Given the description of an element on the screen output the (x, y) to click on. 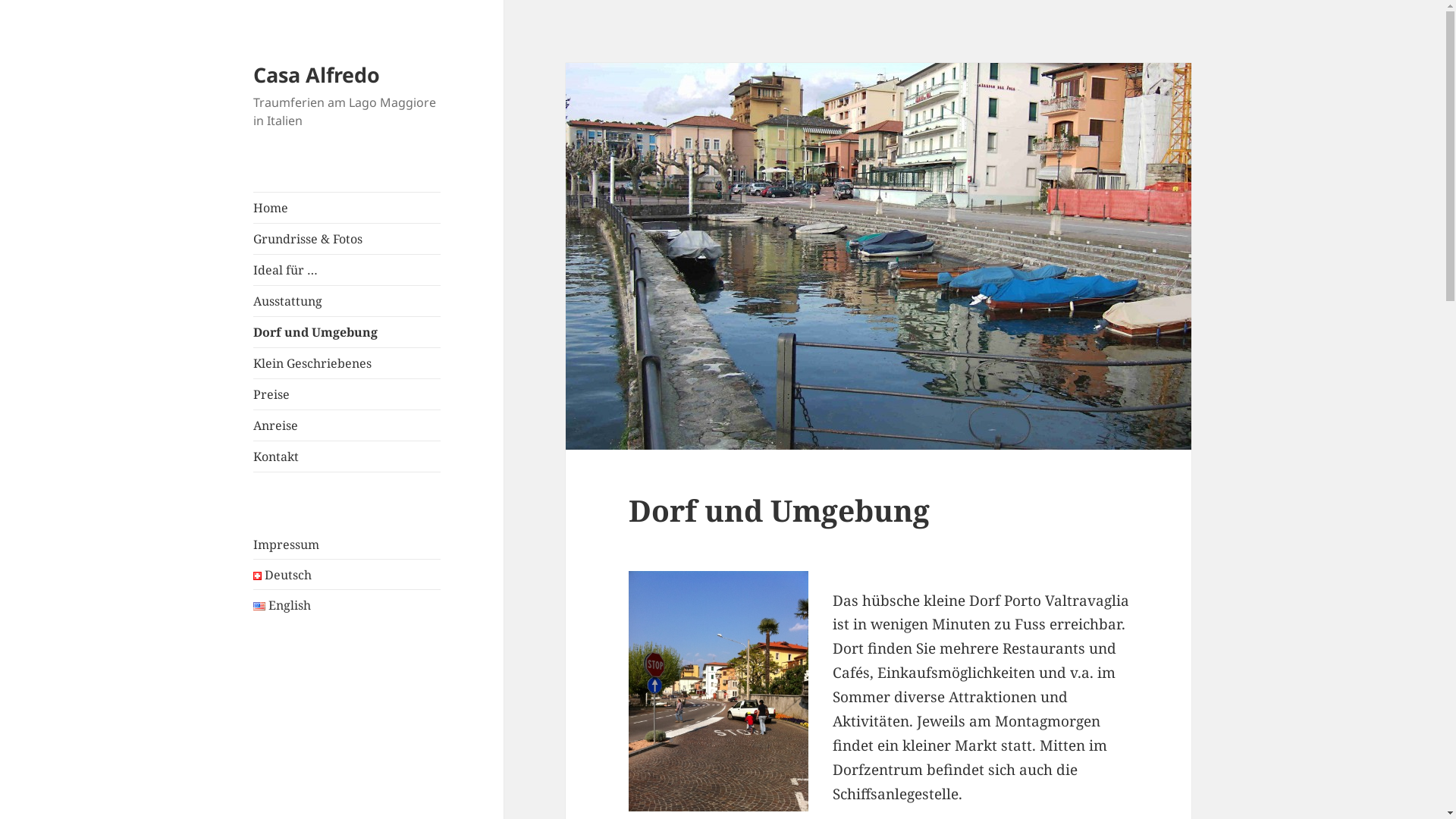
Deutsch Element type: text (282, 574)
English Element type: text (282, 604)
Casa Alfredo Element type: text (316, 74)
Impressum Element type: text (286, 544)
Kontakt Element type: text (347, 456)
Dorf und Umgebung Element type: text (347, 331)
Ausstattung Element type: text (347, 300)
Home Element type: text (347, 207)
Klein Geschriebenes Element type: text (347, 363)
Anreise Element type: text (347, 425)
English Element type: hover (259, 606)
Deutsch Element type: hover (257, 575)
Grundrisse & Fotos Element type: text (347, 238)
Preise Element type: text (347, 394)
